Given the description of an element on the screen output the (x, y) to click on. 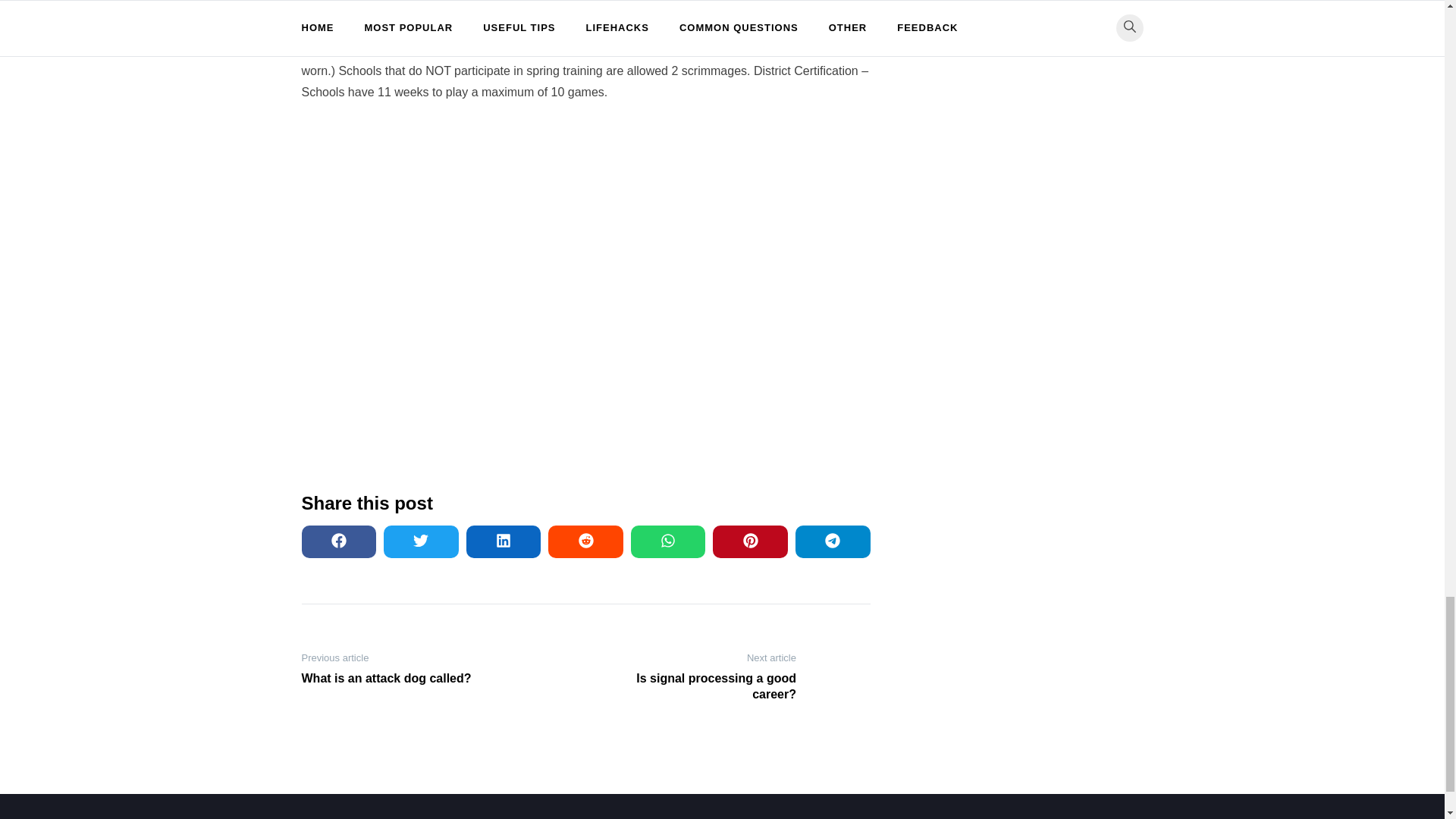
What is an attack dog called? (400, 678)
Is signal processing a good career? (696, 686)
